Given the description of an element on the screen output the (x, y) to click on. 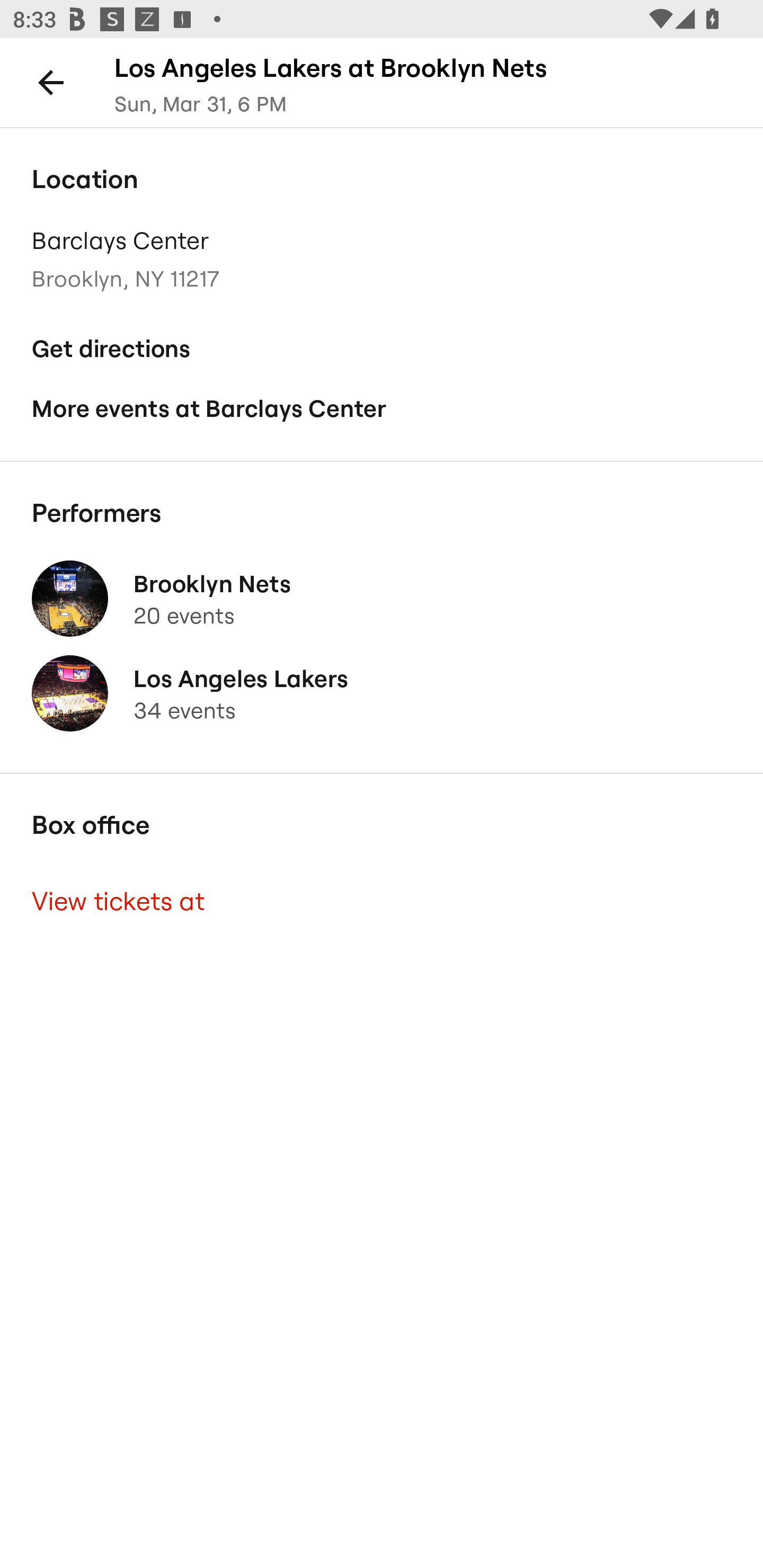
Back (50, 81)
Get directions (381, 348)
More events at Barclays Center (381, 409)
Brooklyn Nets 20 events (381, 598)
Los Angeles Lakers 34 events (381, 693)
View tickets at  (381, 901)
